Given the description of an element on the screen output the (x, y) to click on. 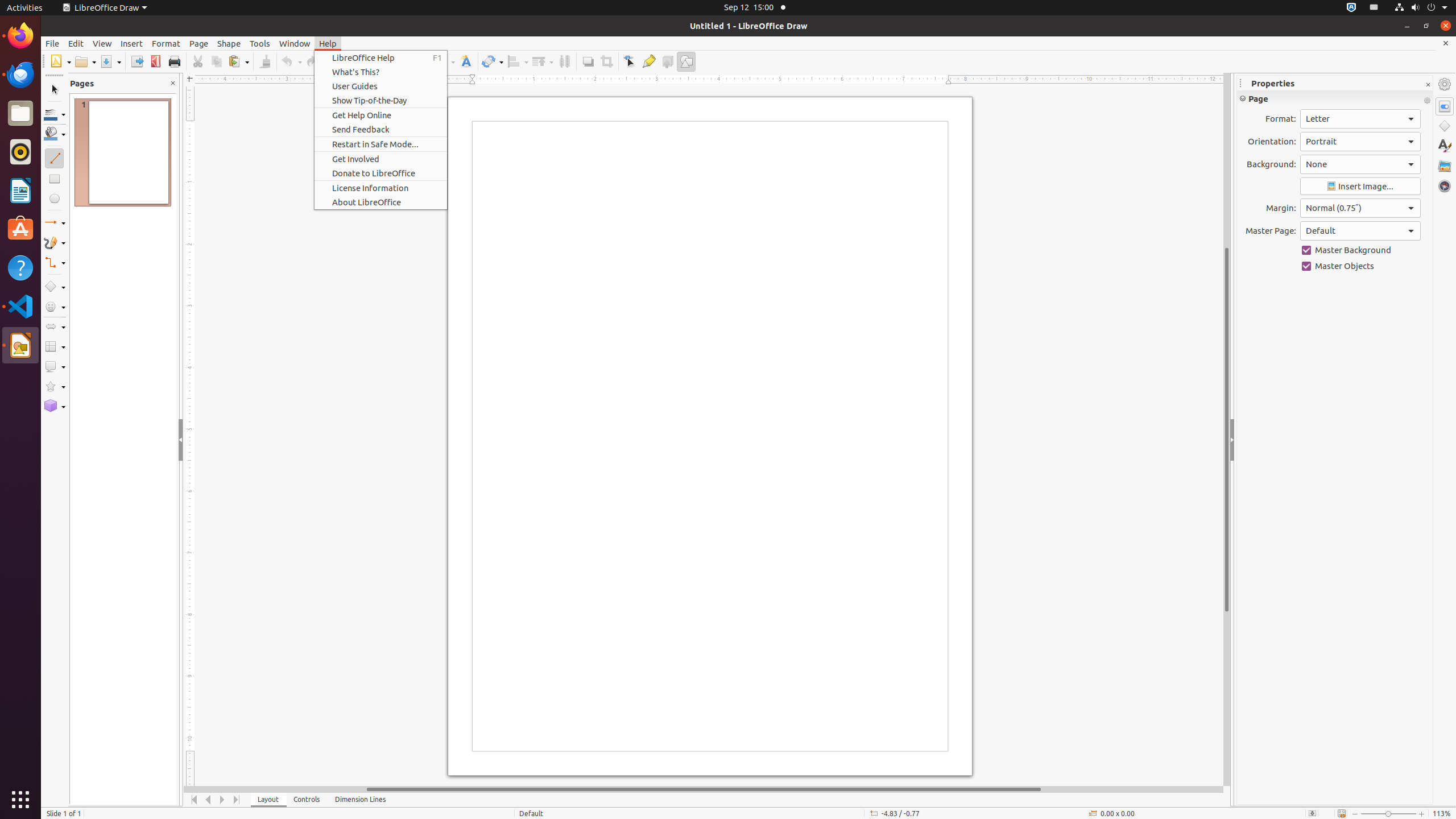
Transformations Element type: push-button (492, 61)
Styles Element type: radio-button (1444, 146)
Move To End Element type: push-button (236, 799)
Shadow Element type: toggle-button (587, 61)
Clone Element type: push-button (264, 61)
